Given the description of an element on the screen output the (x, y) to click on. 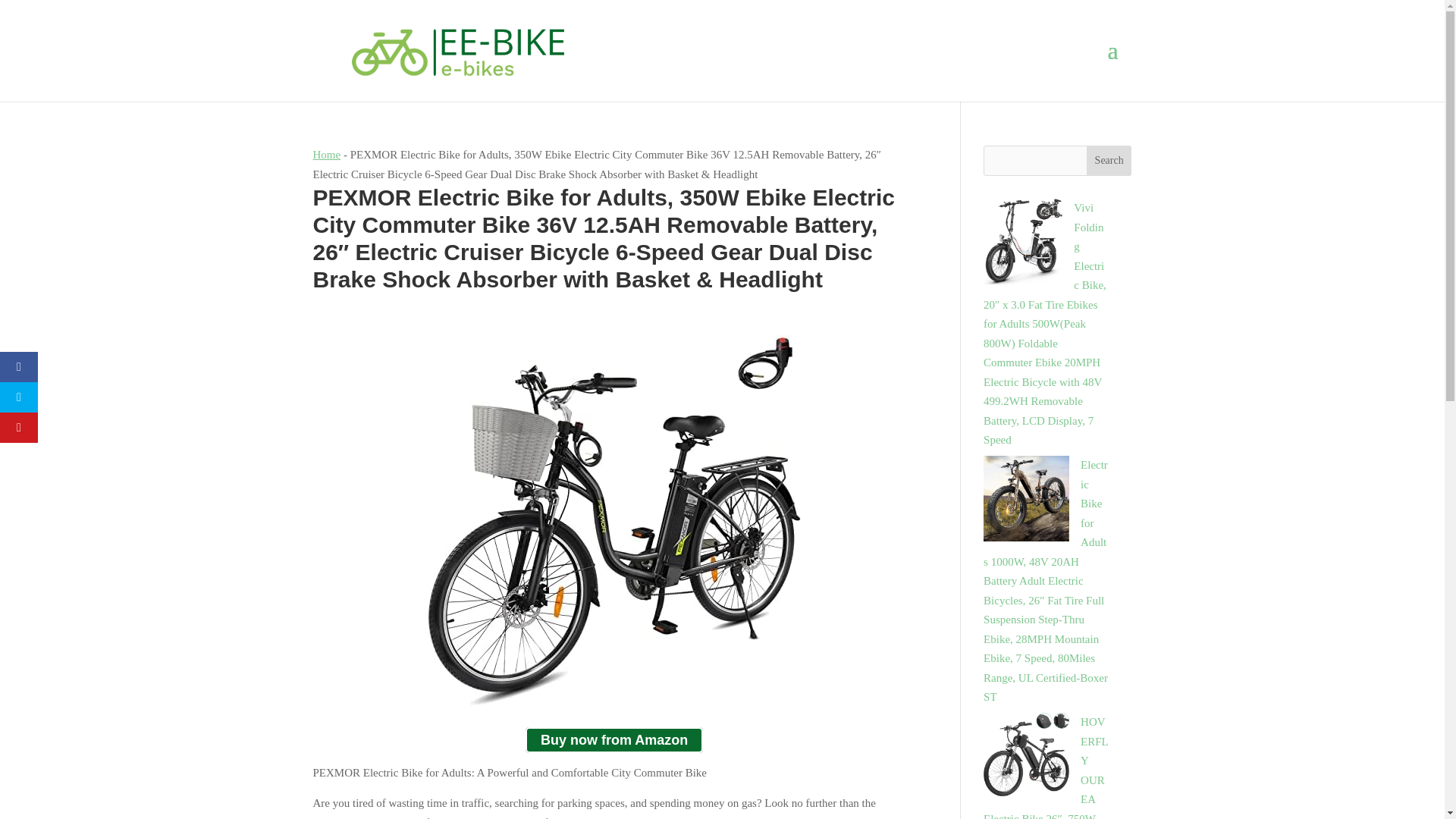
Home (326, 154)
Search (1109, 160)
Buy now from Amazon (614, 740)
